Given the description of an element on the screen output the (x, y) to click on. 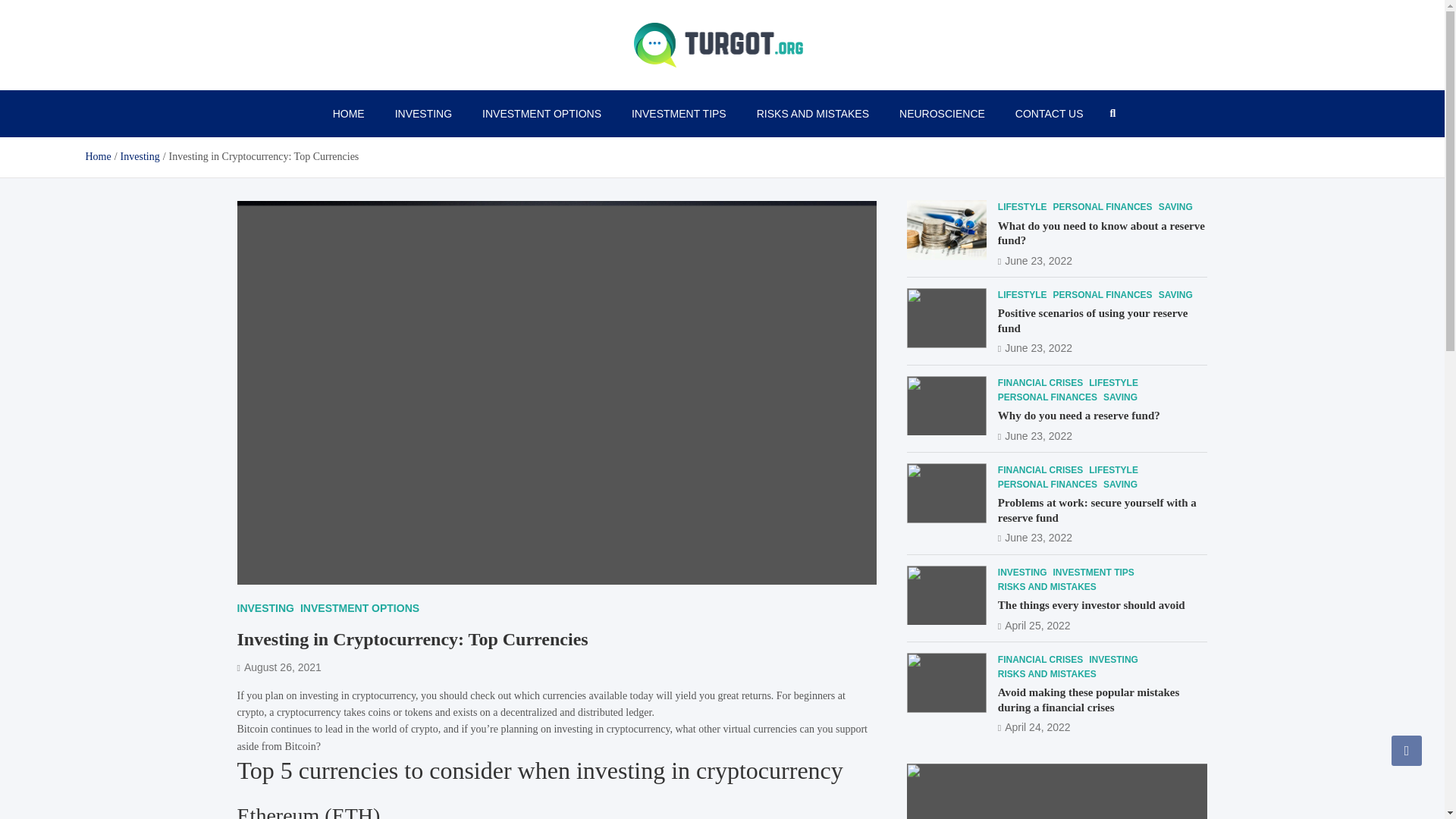
LIFESTYLE (1021, 207)
Investing (140, 156)
LIFESTYLE (1113, 382)
Home (97, 156)
HOME (348, 113)
August 26, 2021 (277, 666)
SAVING (1120, 397)
Problems at work: secure yourself with a reserve fund (1034, 537)
SAVING (1175, 295)
INVESTMENT OPTIONS (541, 113)
FINANCIAL CRISES (1040, 382)
Investing in Cryptocurrency: Top Currencies (277, 666)
INVESTING (423, 113)
PERSONAL FINANCES (1047, 397)
